Given the description of an element on the screen output the (x, y) to click on. 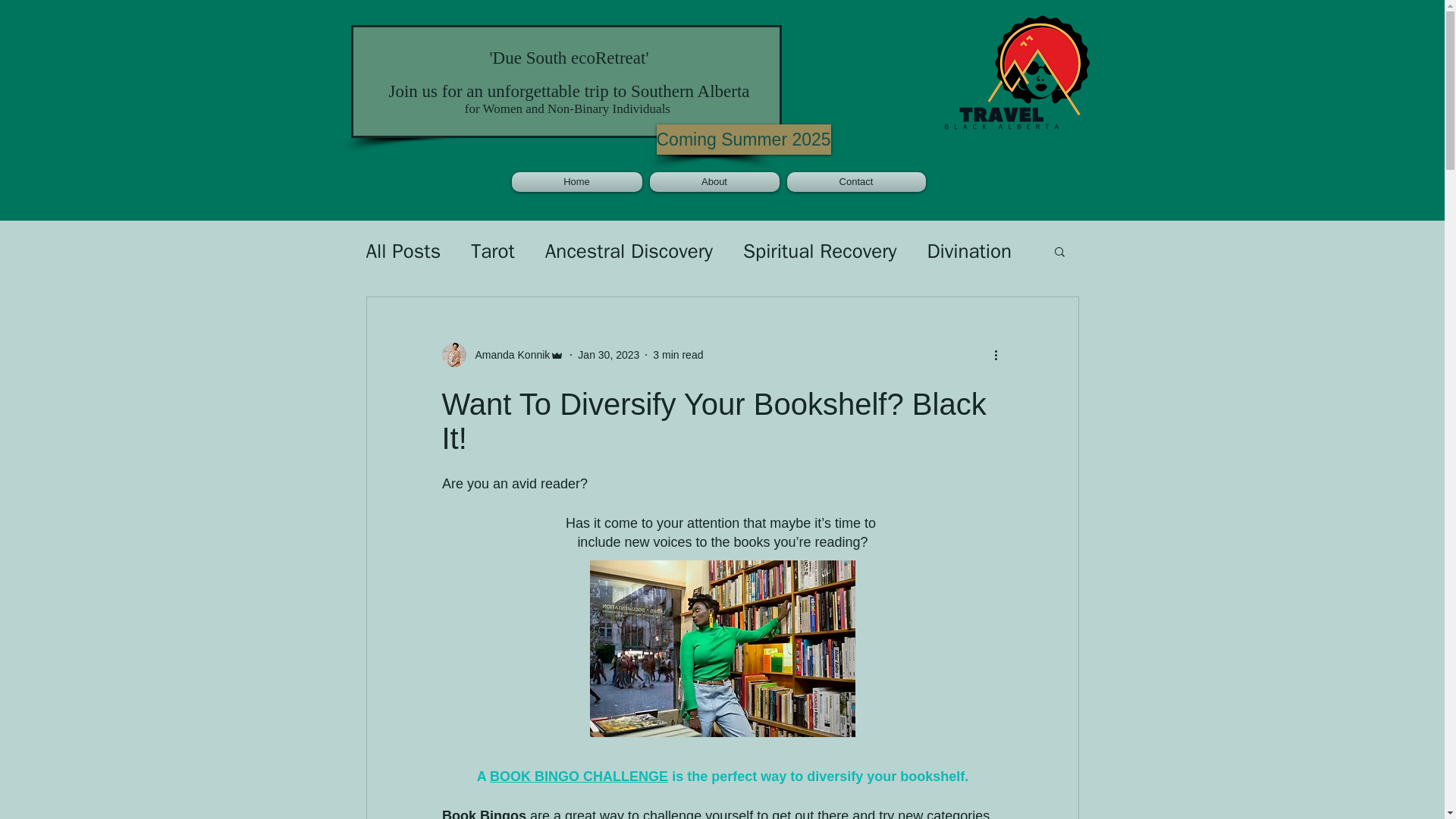
All Posts (403, 251)
Amanda Konnik (502, 354)
Jan 30, 2023 (608, 354)
BOOK BINGO CHALLENGE (578, 776)
Tarot (492, 251)
About (714, 181)
Contact (853, 181)
Ancestral Discovery (628, 251)
Amanda Konnik (507, 355)
Divination (968, 251)
